Given the description of an element on the screen output the (x, y) to click on. 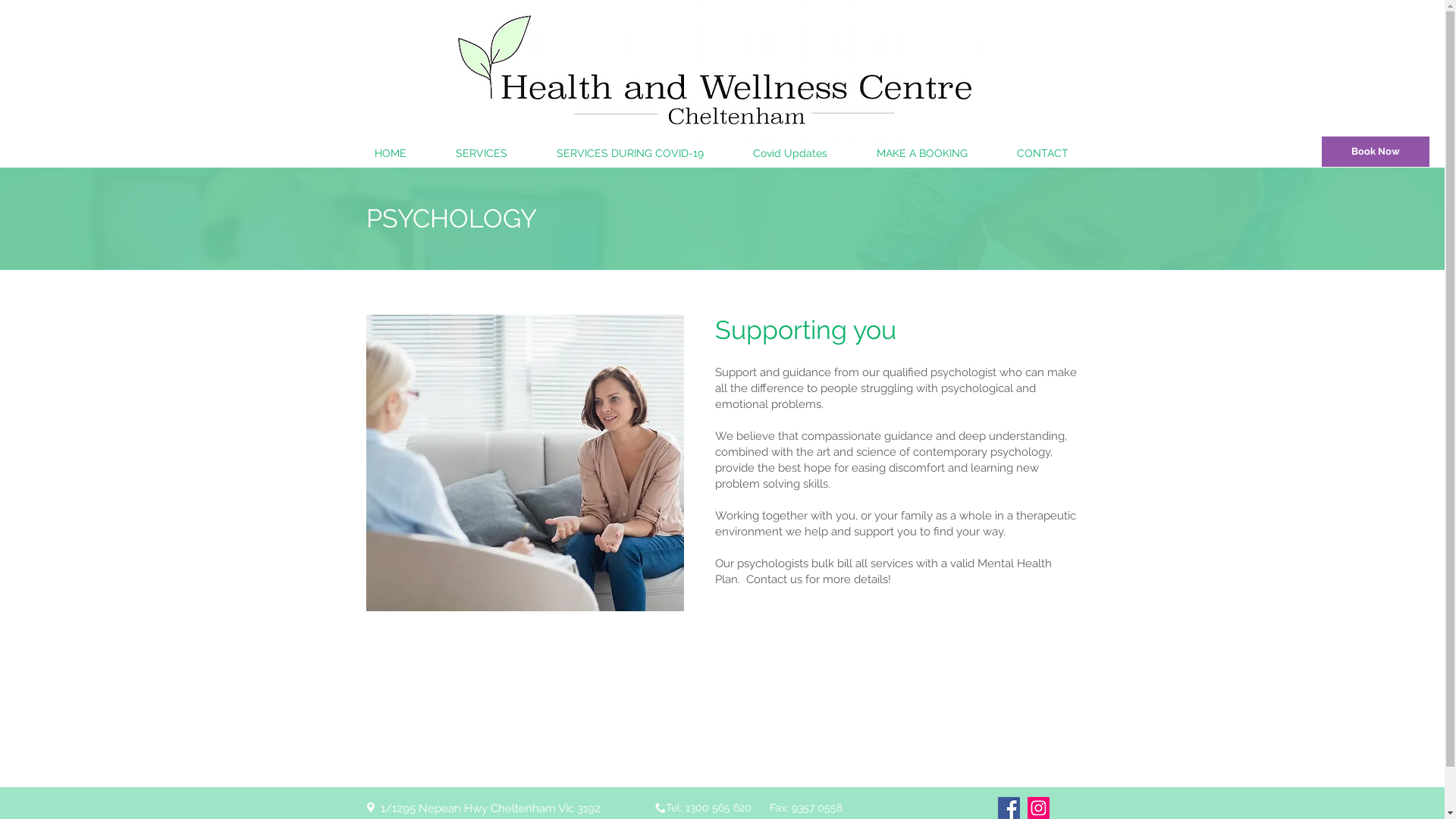
HOME Element type: text (390, 153)
SERVICES DURING COVID-19 Element type: text (630, 153)
CONTACT Element type: text (1041, 153)
SERVICES Element type: text (480, 153)
Book Now Element type: text (1375, 151)
Covid Updates Element type: text (789, 153)
MAKE A BOOKING Element type: text (922, 153)
